Given the description of an element on the screen output the (x, y) to click on. 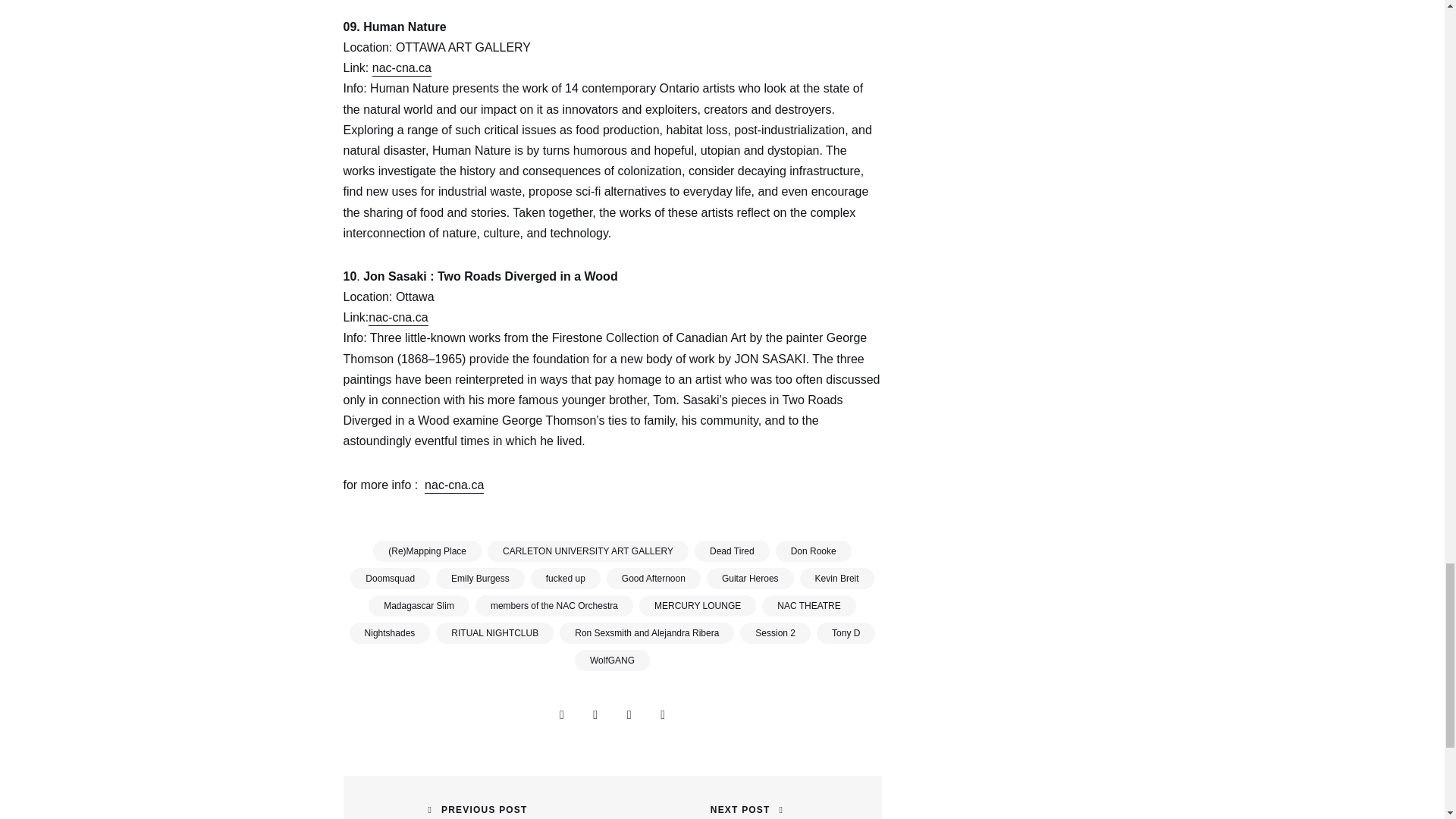
Twitter (629, 715)
Pinterest (662, 715)
Facebook (594, 715)
